Given the description of an element on the screen output the (x, y) to click on. 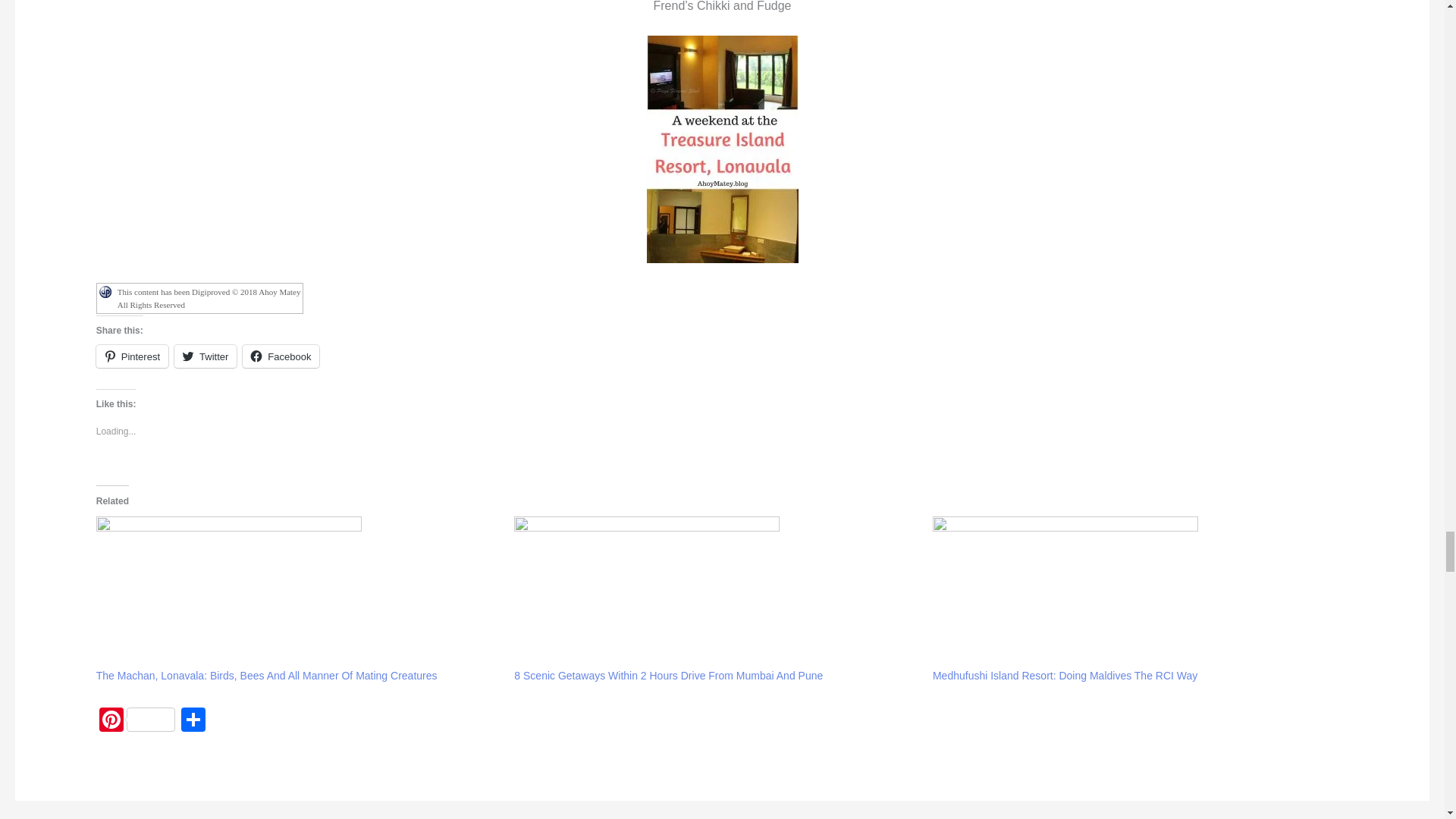
8 Scenic Getaways Within 2 Hours Drive From Mumbai And Pune (667, 675)
Medhufushi Island Resort: Doing Maldives The RCI Way (1134, 592)
Click to share on Twitter (204, 355)
Click to share on Pinterest (132, 355)
Pinterest (136, 721)
Click to see details of license (200, 304)
8 Scenic Getaways Within 2 Hours Drive From Mumbai And Pune (715, 592)
Medhufushi Island Resort: Doing Maldives The RCI Way (1064, 675)
Click to share on Facebook (280, 355)
